Given the description of an element on the screen output the (x, y) to click on. 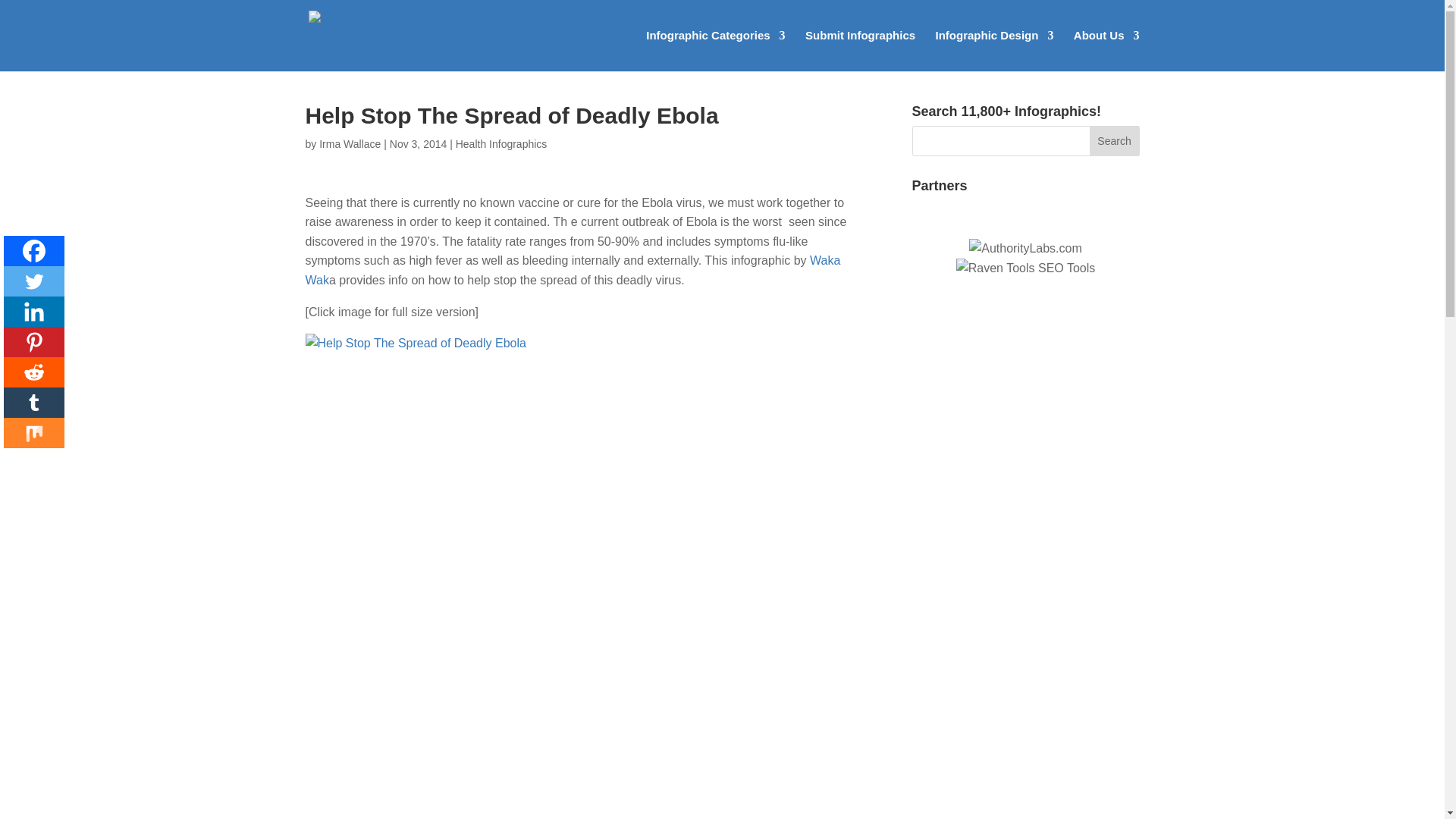
Waka Wak (572, 269)
Infographic Categories (715, 50)
Health Infographics (501, 143)
Irma Wallace (349, 143)
Infographic Categories (715, 50)
About Us (1107, 50)
Infographic Design (995, 50)
Submit Infographics (860, 50)
Search (1114, 141)
